Given the description of an element on the screen output the (x, y) to click on. 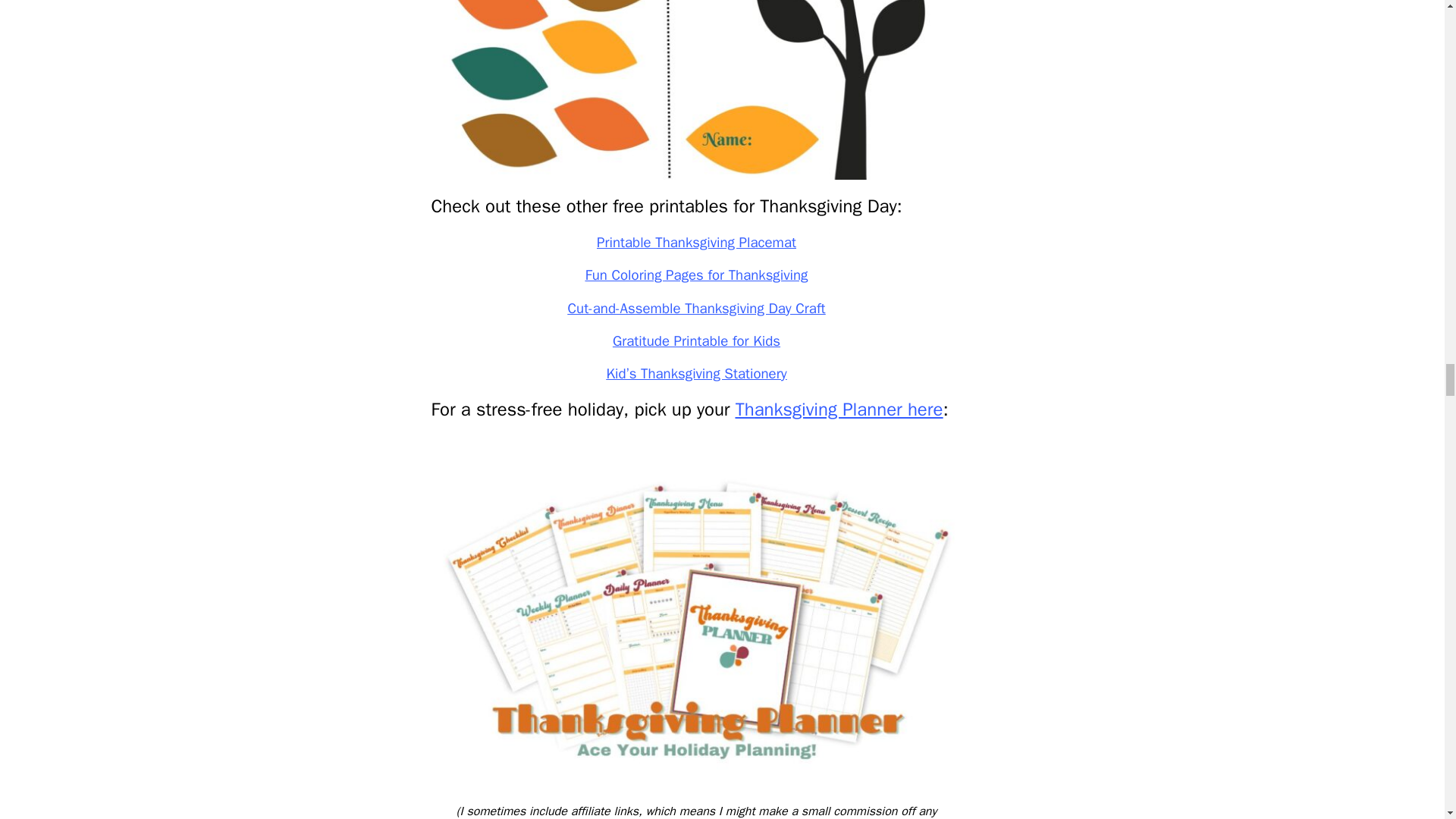
thankful tree printable cut and assemble (695, 89)
